Given the description of an element on the screen output the (x, y) to click on. 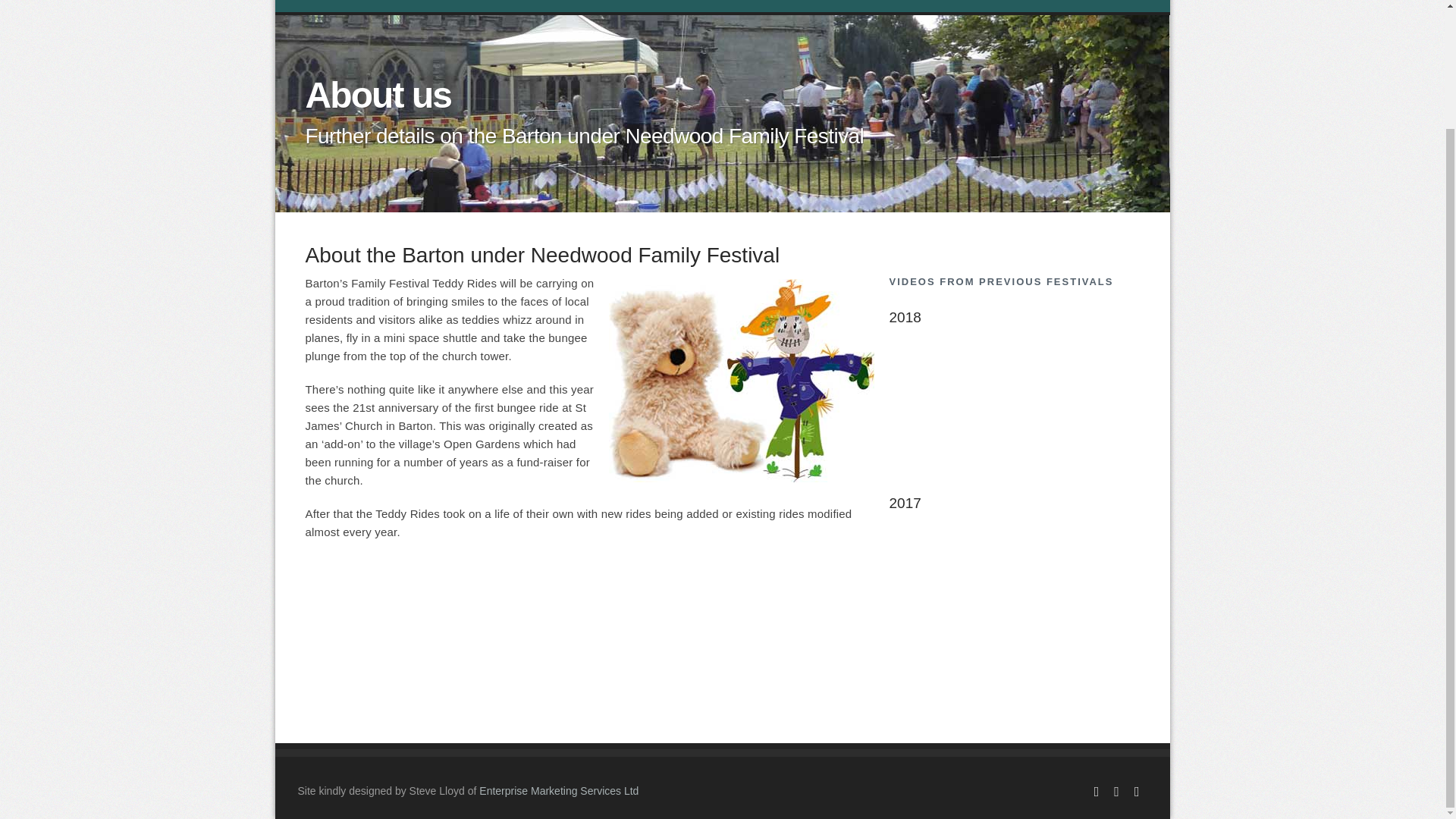
Enterprise Marketing Services Ltd (559, 790)
Contact (831, 6)
Garden Show (564, 6)
Teddy Rides (426, 6)
Scarecrows (494, 6)
Other Activities (641, 6)
About (370, 6)
2017 Festival V3 (1013, 598)
Barton Family Festival 2018 (1013, 412)
Home (326, 6)
Charities (708, 6)
Get Involved (771, 6)
